Given the description of an element on the screen output the (x, y) to click on. 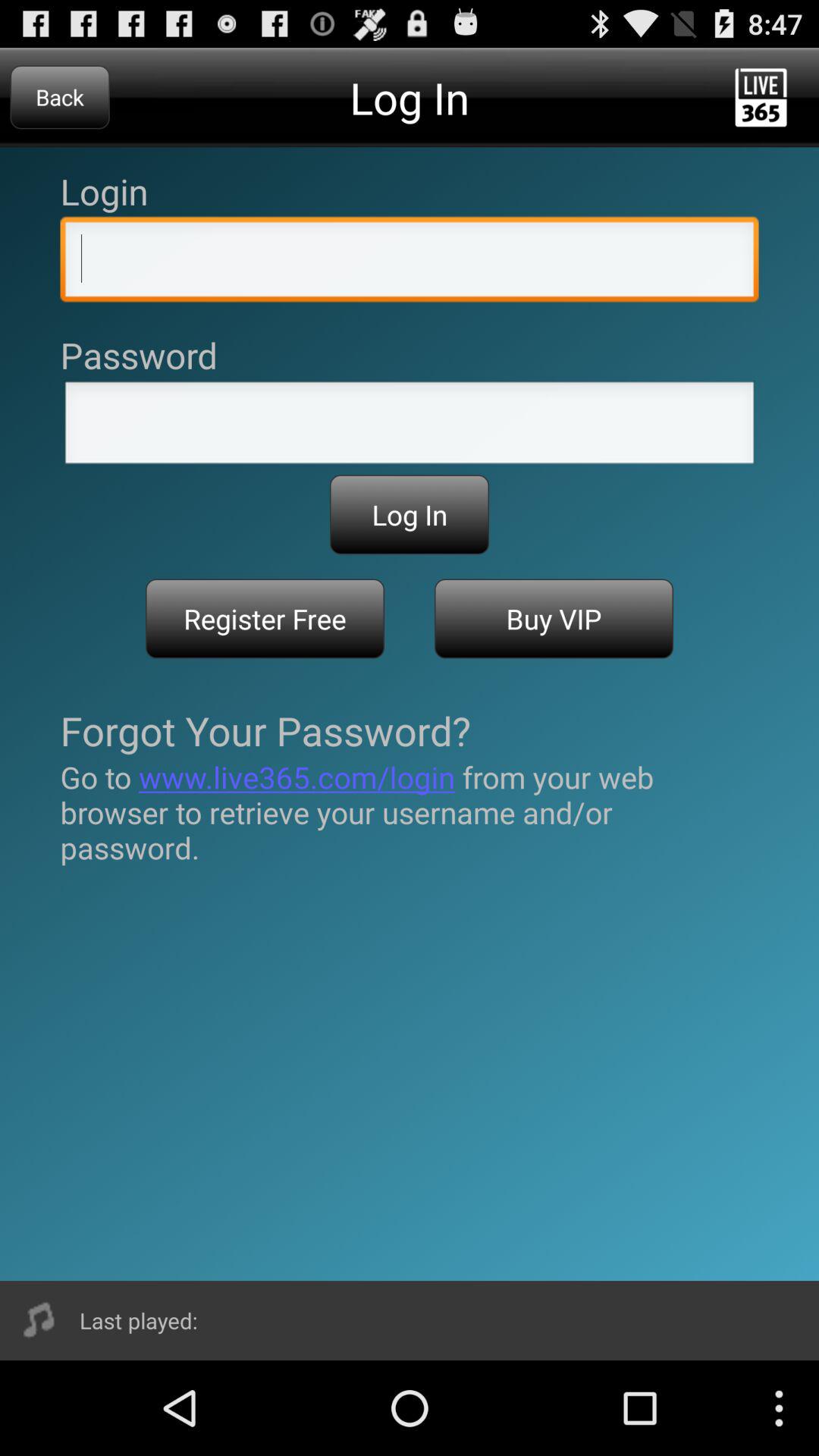
allows to input password (409, 426)
